Given the description of an element on the screen output the (x, y) to click on. 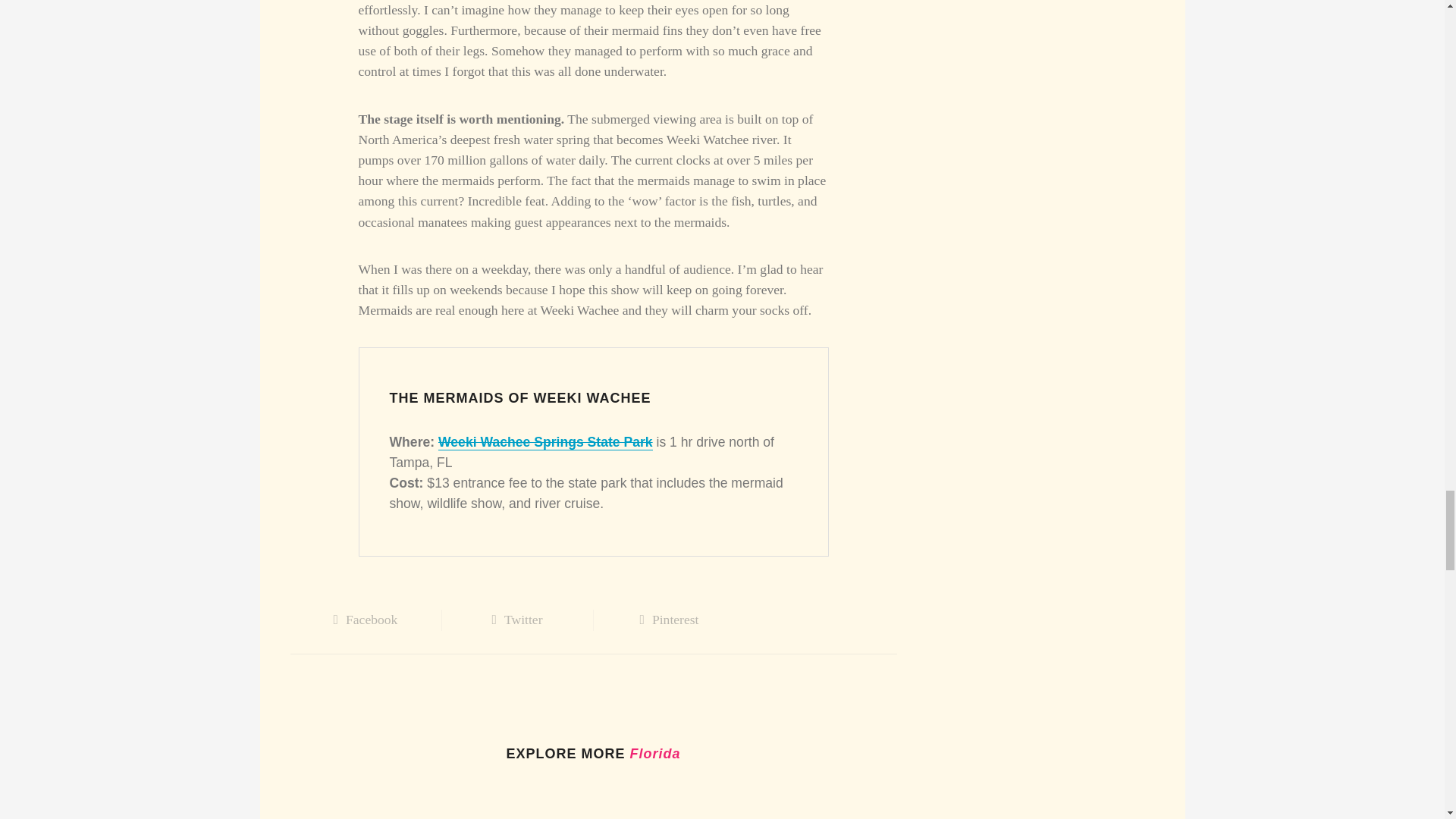
Share on Facebook (365, 619)
Tweet This! (516, 619)
Pin this! (668, 619)
